Given the description of an element on the screen output the (x, y) to click on. 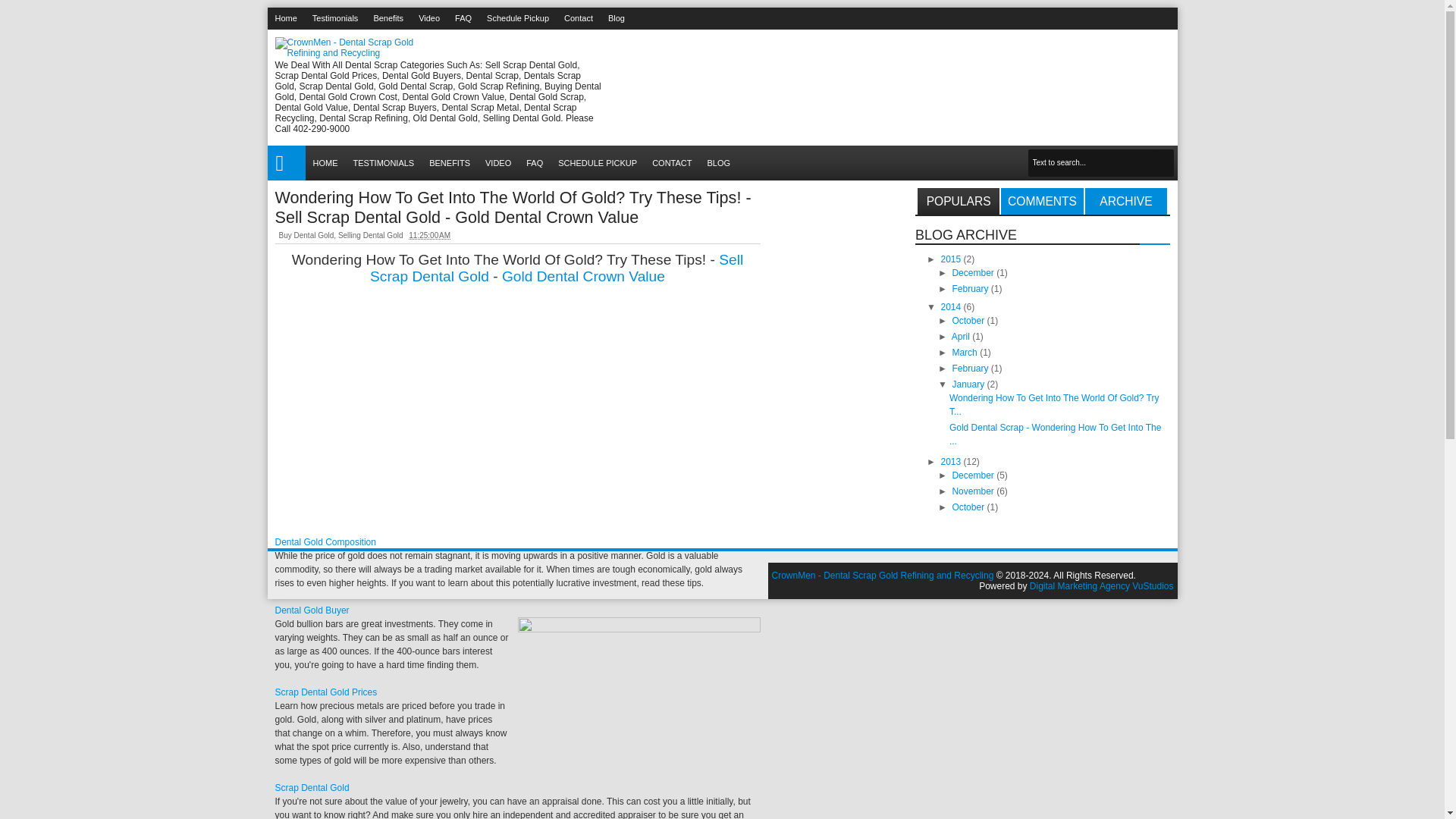
Blog (615, 18)
Benefits (387, 18)
VIDEO (497, 162)
HOME (285, 162)
rss (1147, 18)
permanent link (429, 234)
BLOG (719, 162)
google (1127, 18)
twitter (1087, 18)
linkedin (1166, 18)
TESTIMONIALS (384, 162)
Schedule Pickup (517, 18)
facebook (1107, 18)
Video (428, 18)
CONTACT (671, 162)
